Given the description of an element on the screen output the (x, y) to click on. 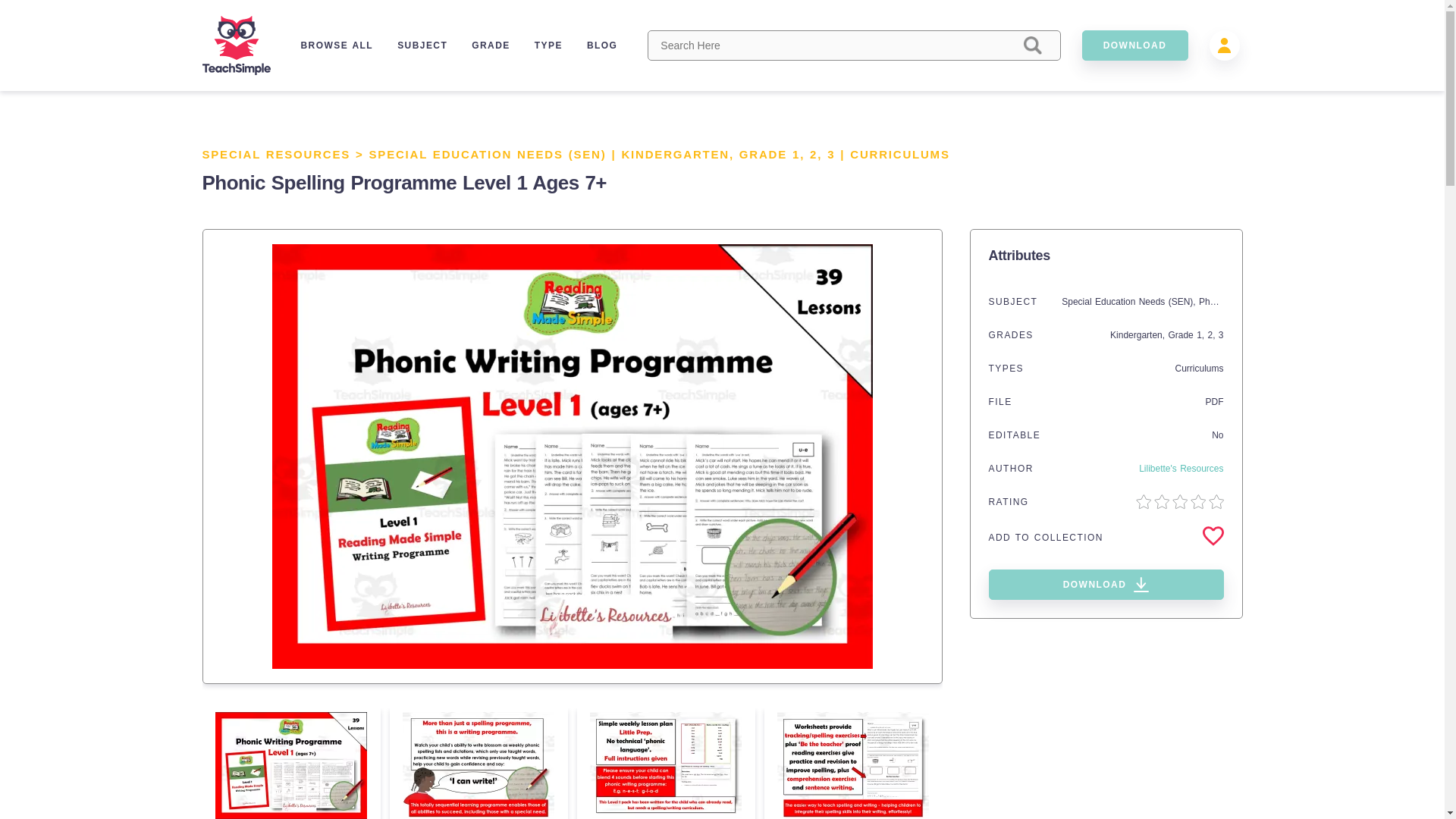
CURRICULUMS (899, 154)
PDF (1214, 401)
BLOG (601, 45)
1, (800, 154)
Curriculums (1198, 368)
1, (1201, 335)
2, (1212, 335)
SPECIAL RESOURCES (276, 154)
DOWNLOAD (1106, 584)
KINDERGARTEN (675, 154)
Kindergarten (1135, 335)
Phonics, (1217, 301)
2, (818, 154)
3 (1221, 335)
Lilibette's Resources (1180, 468)
